Given the description of an element on the screen output the (x, y) to click on. 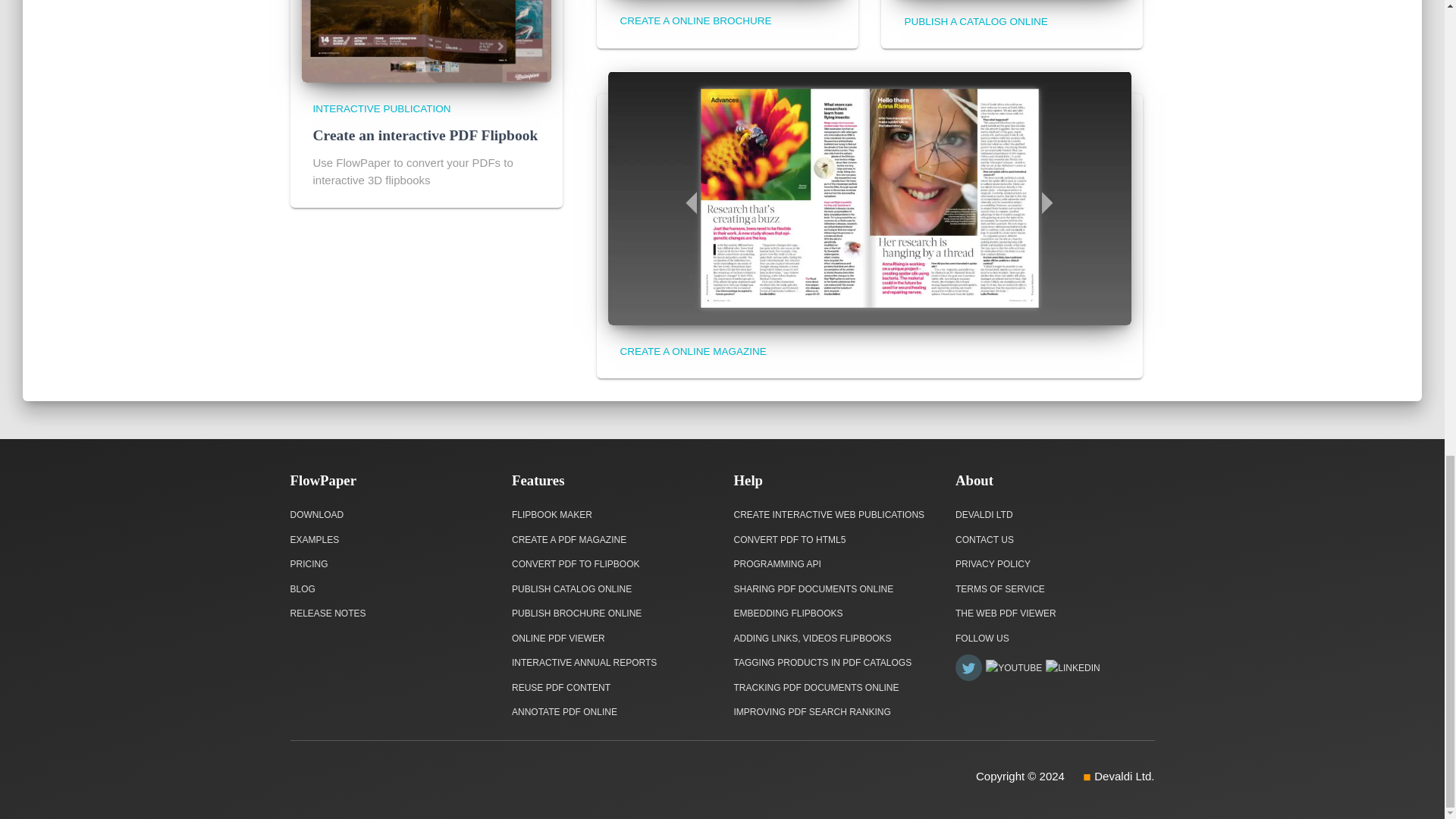
Create an interactive PDF Flipbook (425, 135)
